Given the description of an element on the screen output the (x, y) to click on. 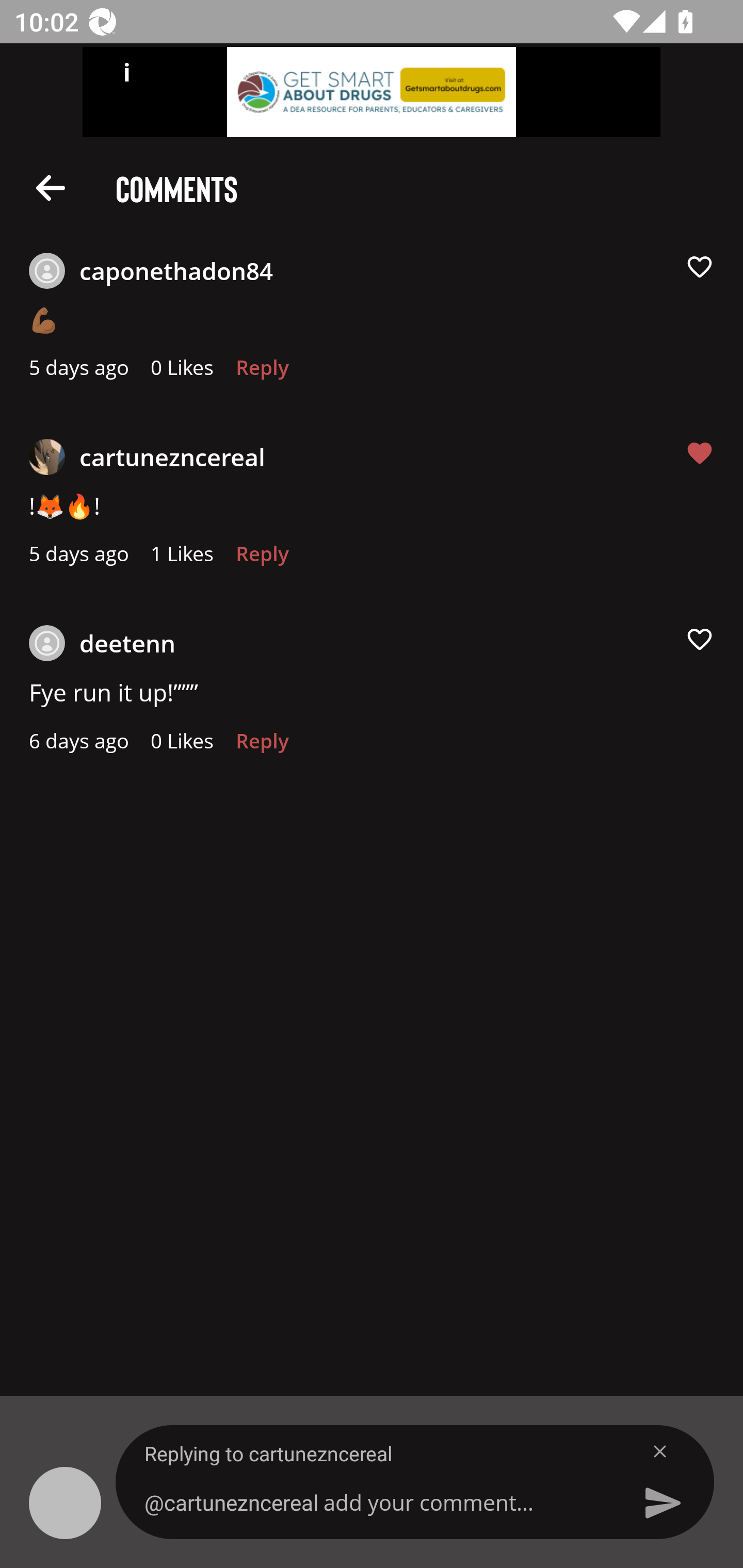
Description (50, 187)
Reply (261, 372)
Reply (261, 558)
Reply (261, 746)
add your comment… (378, 1502)
